Given the description of an element on the screen output the (x, y) to click on. 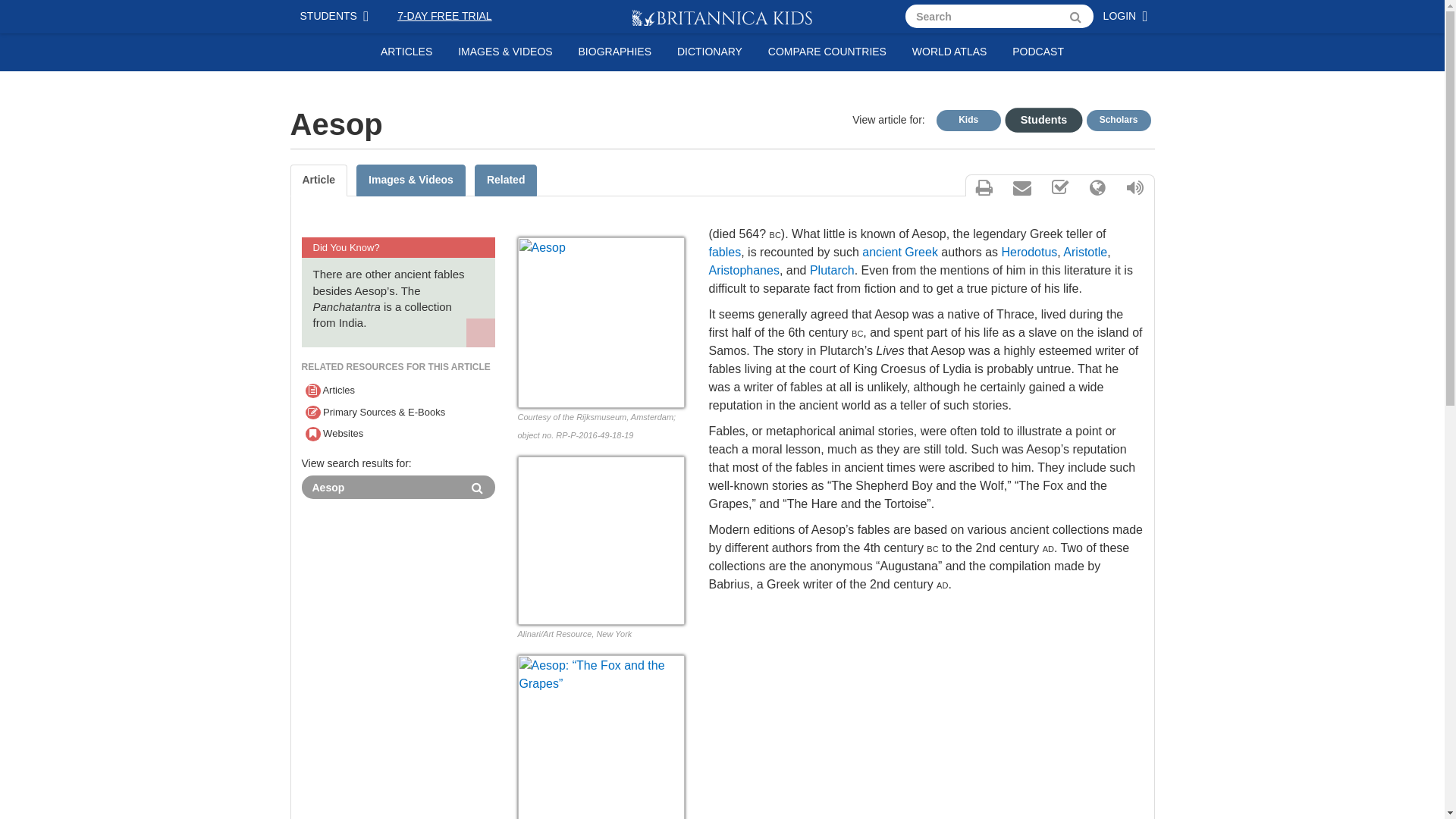
Aesop (381, 486)
Aesop (381, 486)
Aesop (600, 322)
Grades 6-8 (1036, 118)
STUDENTS (336, 16)
Grade 9 and Up (1118, 119)
Up to Grade 5 (968, 119)
